Given the description of an element on the screen output the (x, y) to click on. 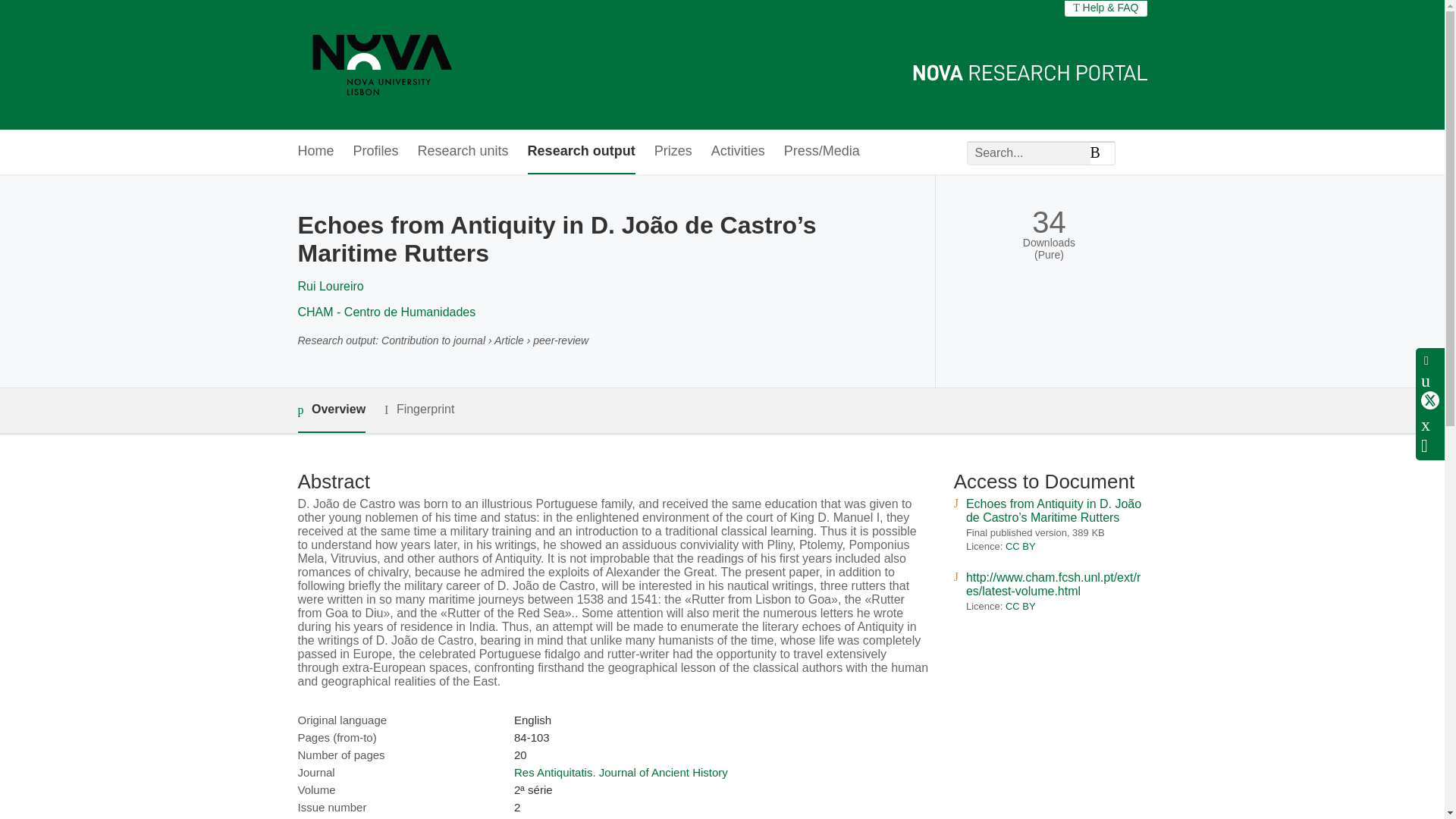
Res Antiquitatis. Journal of Ancient History (620, 771)
Fingerprint (419, 409)
Rui Loureiro (329, 286)
Profiles (375, 151)
Universidade NOVA de Lisboa Home (382, 64)
CC BY (1020, 546)
Overview (331, 410)
CHAM - Centro de Humanidades (386, 311)
Research units (462, 151)
